Given the description of an element on the screen output the (x, y) to click on. 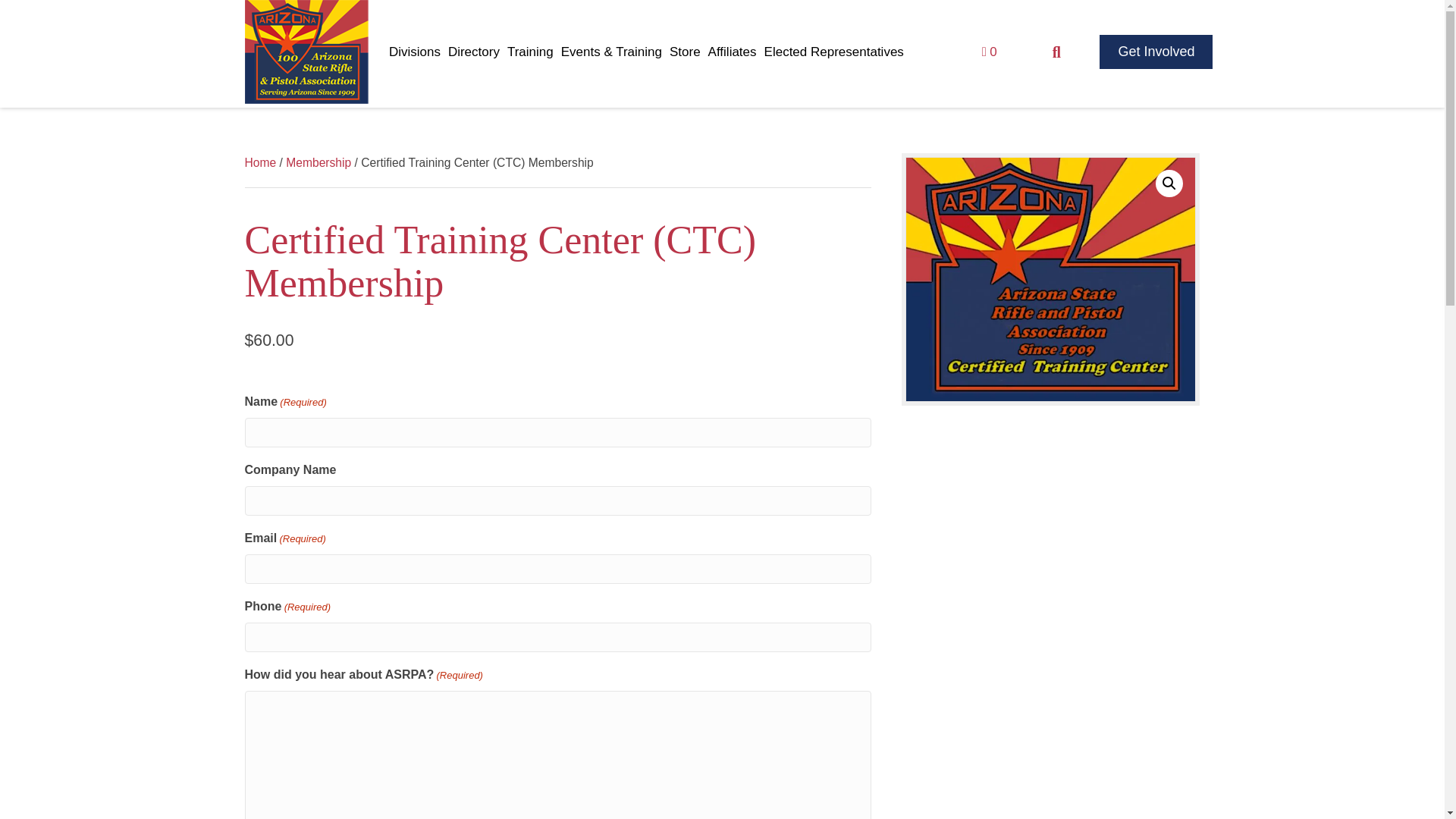
ASRPA Certified Training Center logo (1050, 279)
0 (989, 51)
Affiliates (732, 51)
Directory (473, 51)
Elected Representatives (834, 51)
Training (529, 51)
Store (684, 51)
Arizona State Rifle and Pistol Association (306, 52)
Divisions (414, 51)
Get Involved (1155, 52)
Start shopping (989, 51)
